Given the description of an element on the screen output the (x, y) to click on. 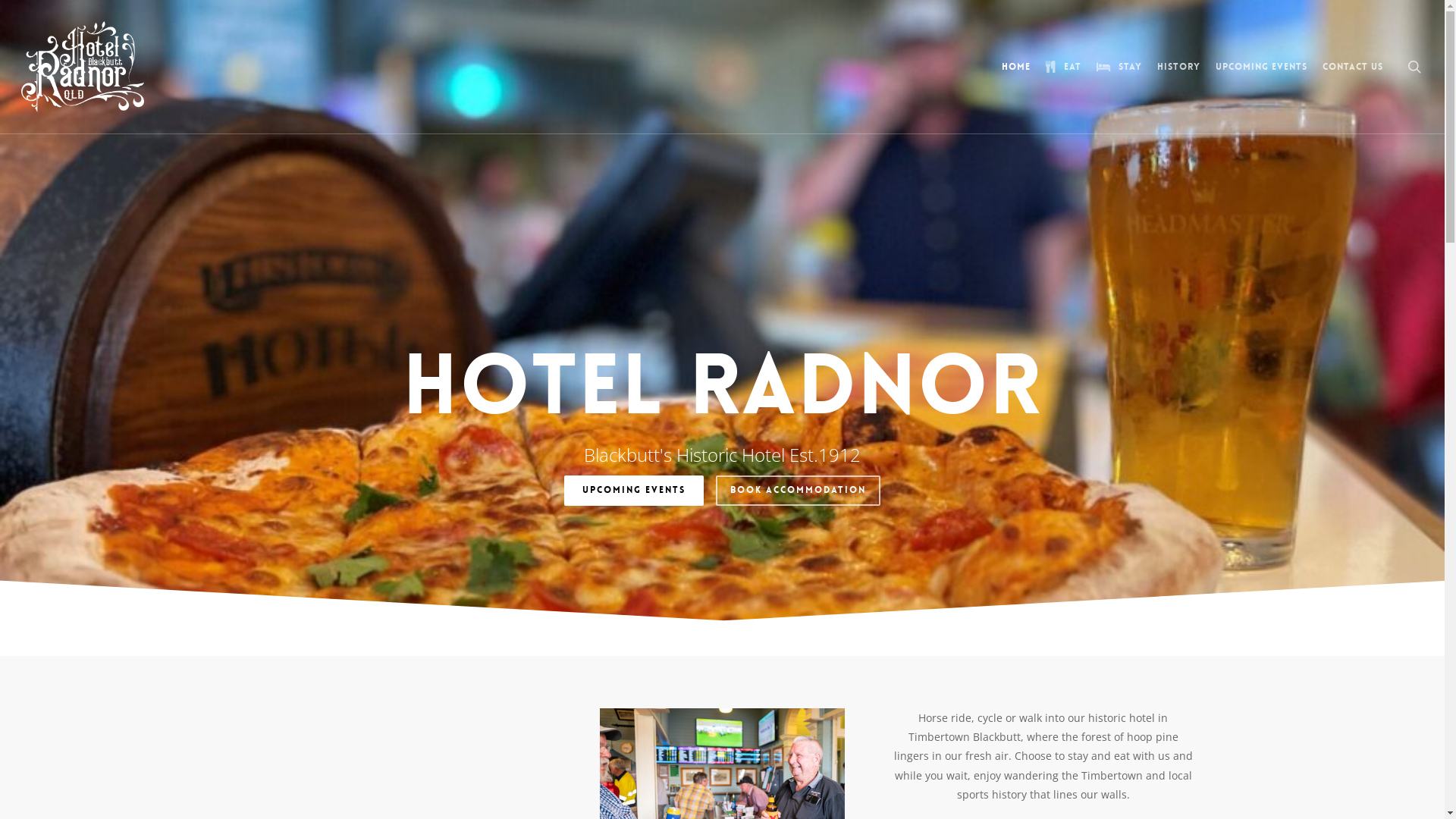
Contact Us Element type: text (1352, 66)
search Element type: text (1414, 66)
Upcoming Events Element type: text (1261, 66)
History Element type: text (1178, 66)
BOOK ACCOMMODATION Element type: text (797, 490)
Home Element type: text (1016, 66)
Eat Element type: text (1063, 66)
Stay Element type: text (1118, 66)
UPCOMING EVENTS Element type: text (633, 490)
